Given the description of an element on the screen output the (x, y) to click on. 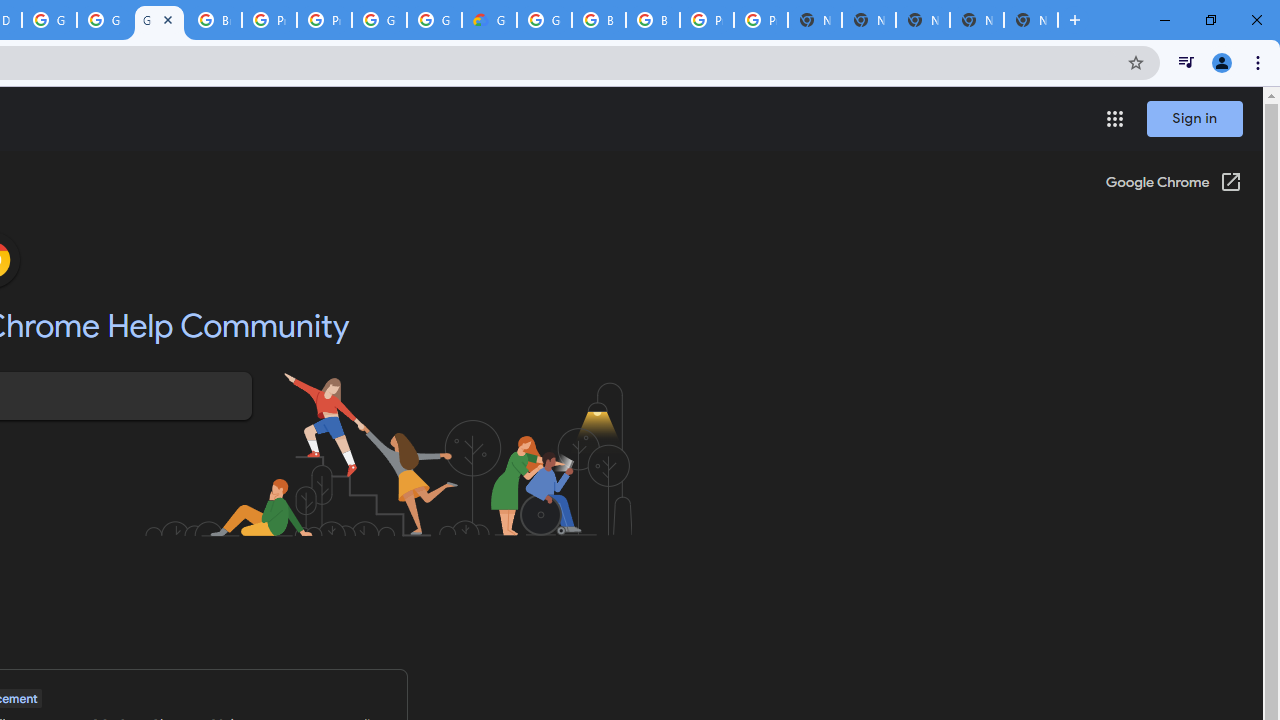
New Tab (1030, 20)
Google Cloud Platform (434, 20)
Google Cloud Platform (379, 20)
Google Cloud Platform (48, 20)
Google Chrome Community (158, 20)
Google Cloud Platform (544, 20)
